Given the description of an element on the screen output the (x, y) to click on. 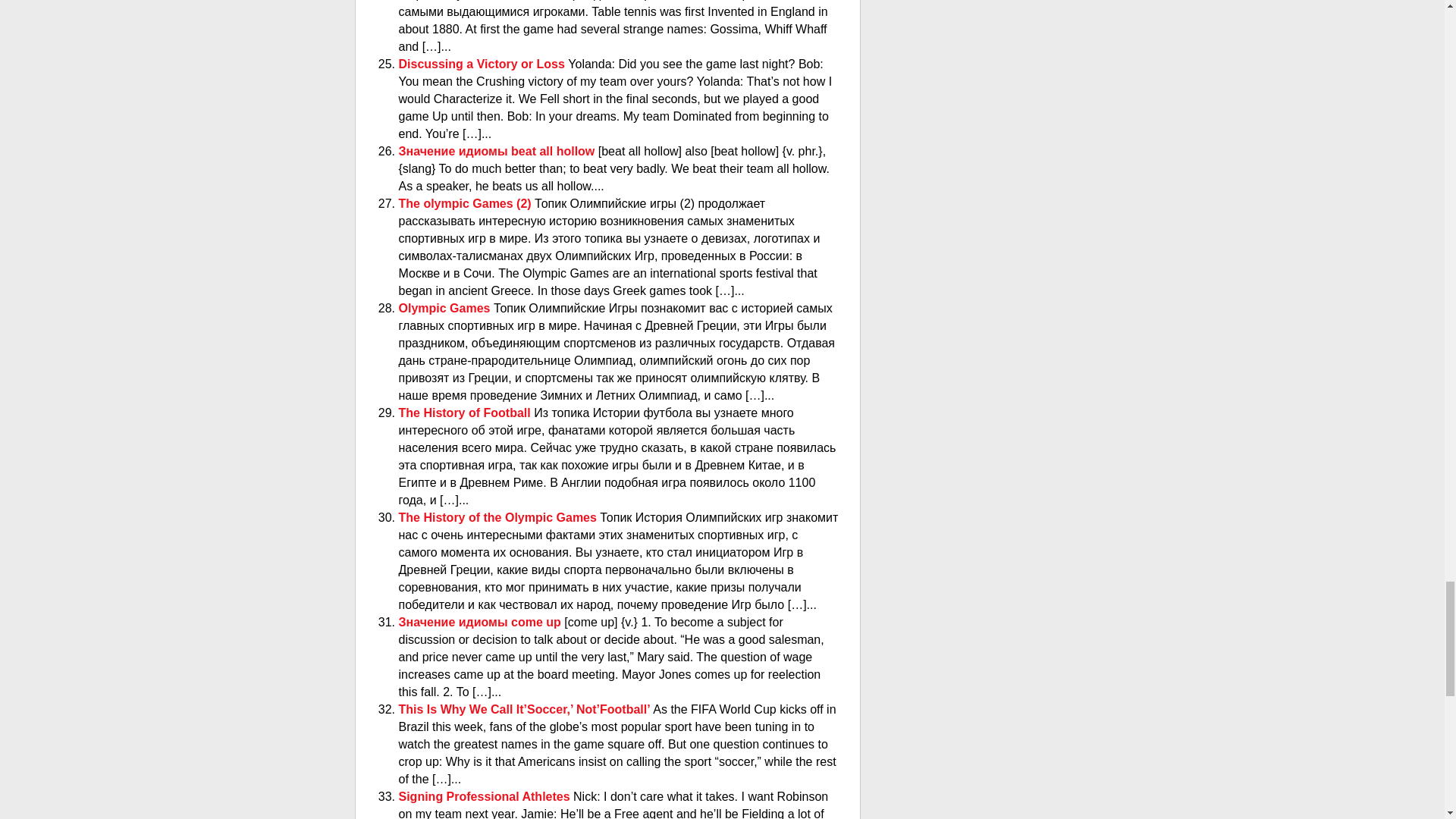
Signing Professional Athletes (485, 796)
Discussing a Victory or Loss (483, 63)
The History of the Olympic Games (498, 517)
The History of Football (466, 412)
Olympic Games (445, 308)
